Given the description of an element on the screen output the (x, y) to click on. 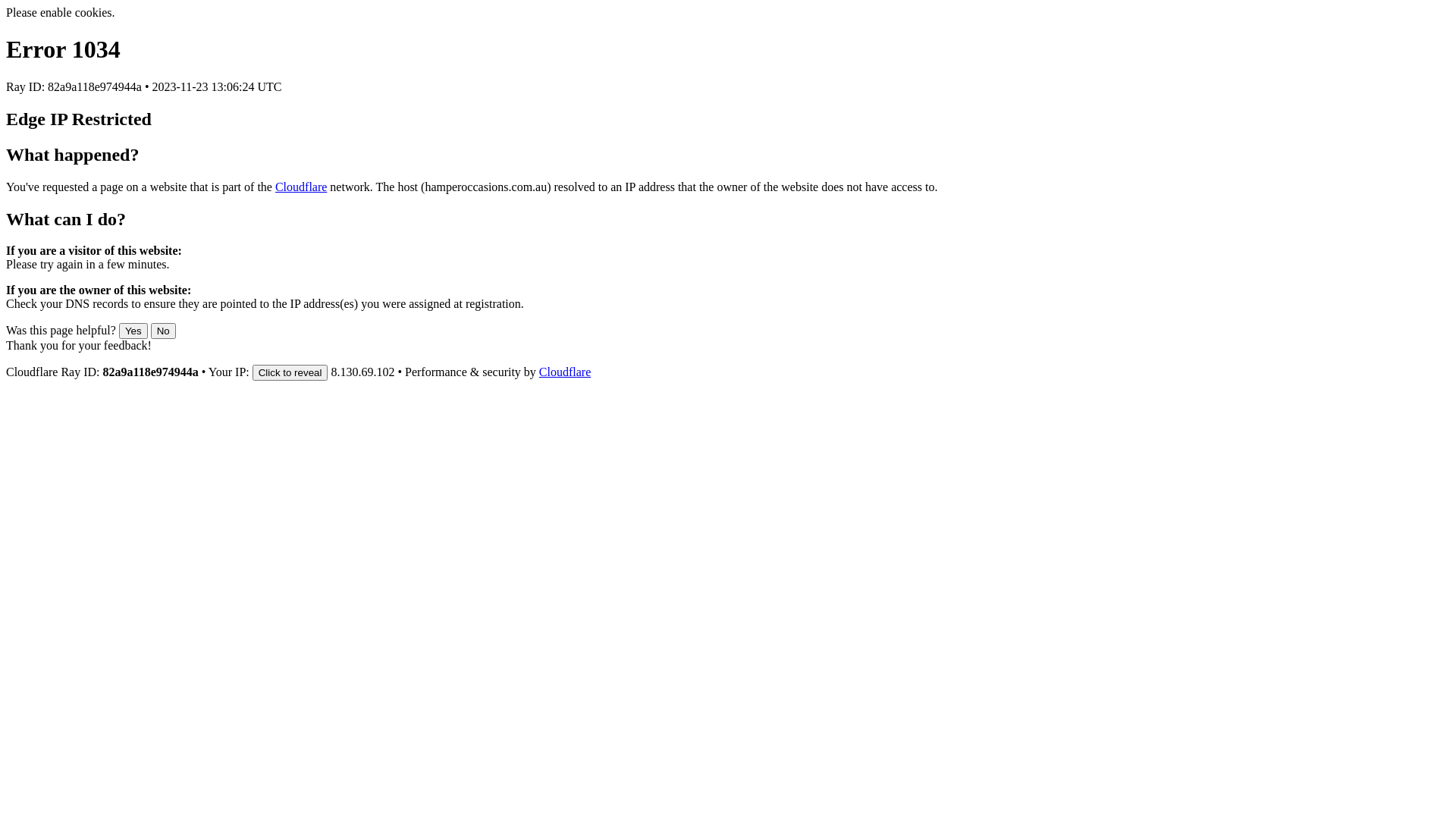
No Element type: text (162, 330)
Click to reveal Element type: text (290, 372)
Cloudflare Element type: text (564, 371)
Yes Element type: text (133, 330)
Cloudflare Element type: text (300, 186)
